Given the description of an element on the screen output the (x, y) to click on. 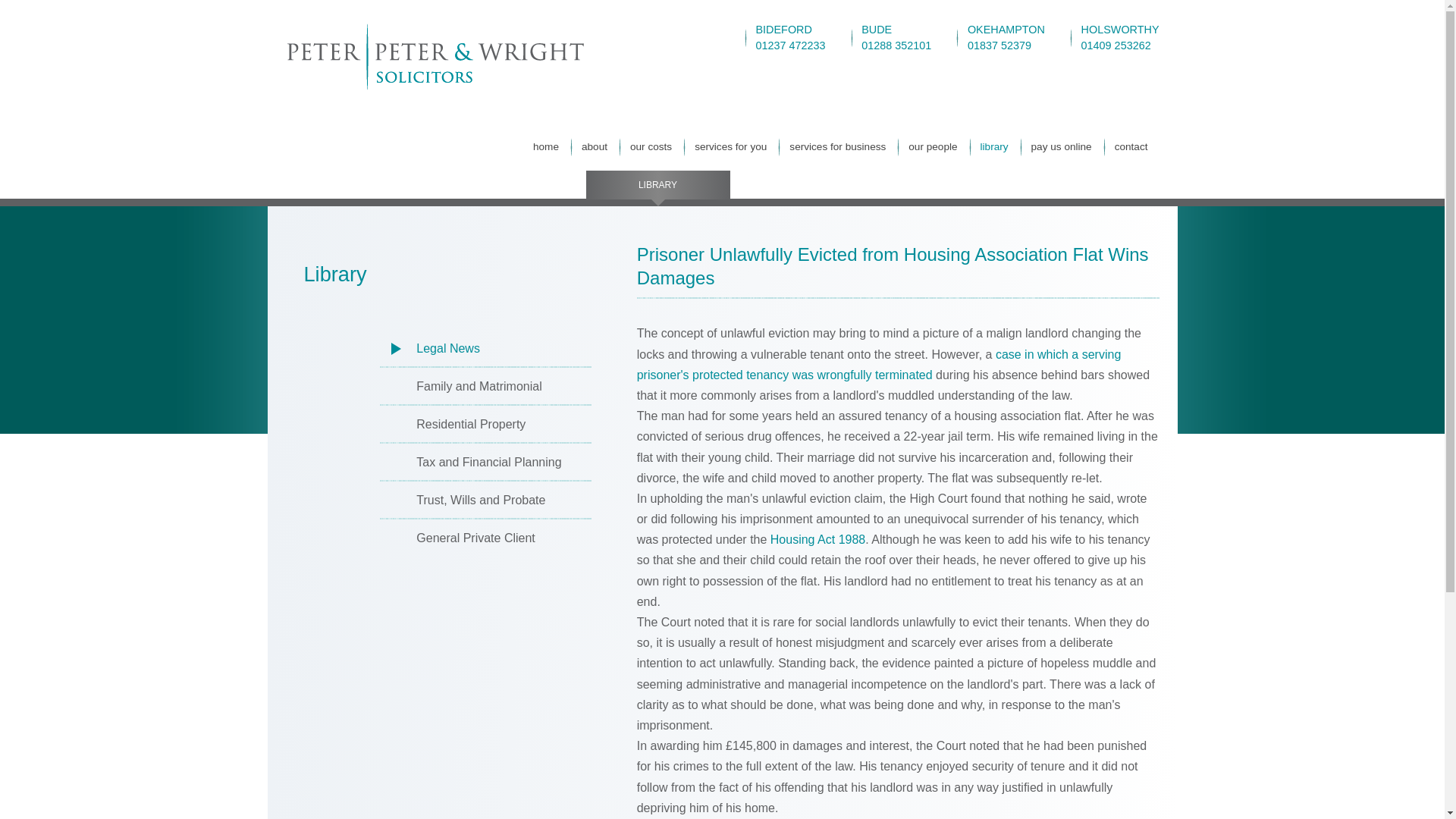
home (545, 146)
our costs (650, 146)
services for you (729, 146)
about (1006, 37)
